Given the description of an element on the screen output the (x, y) to click on. 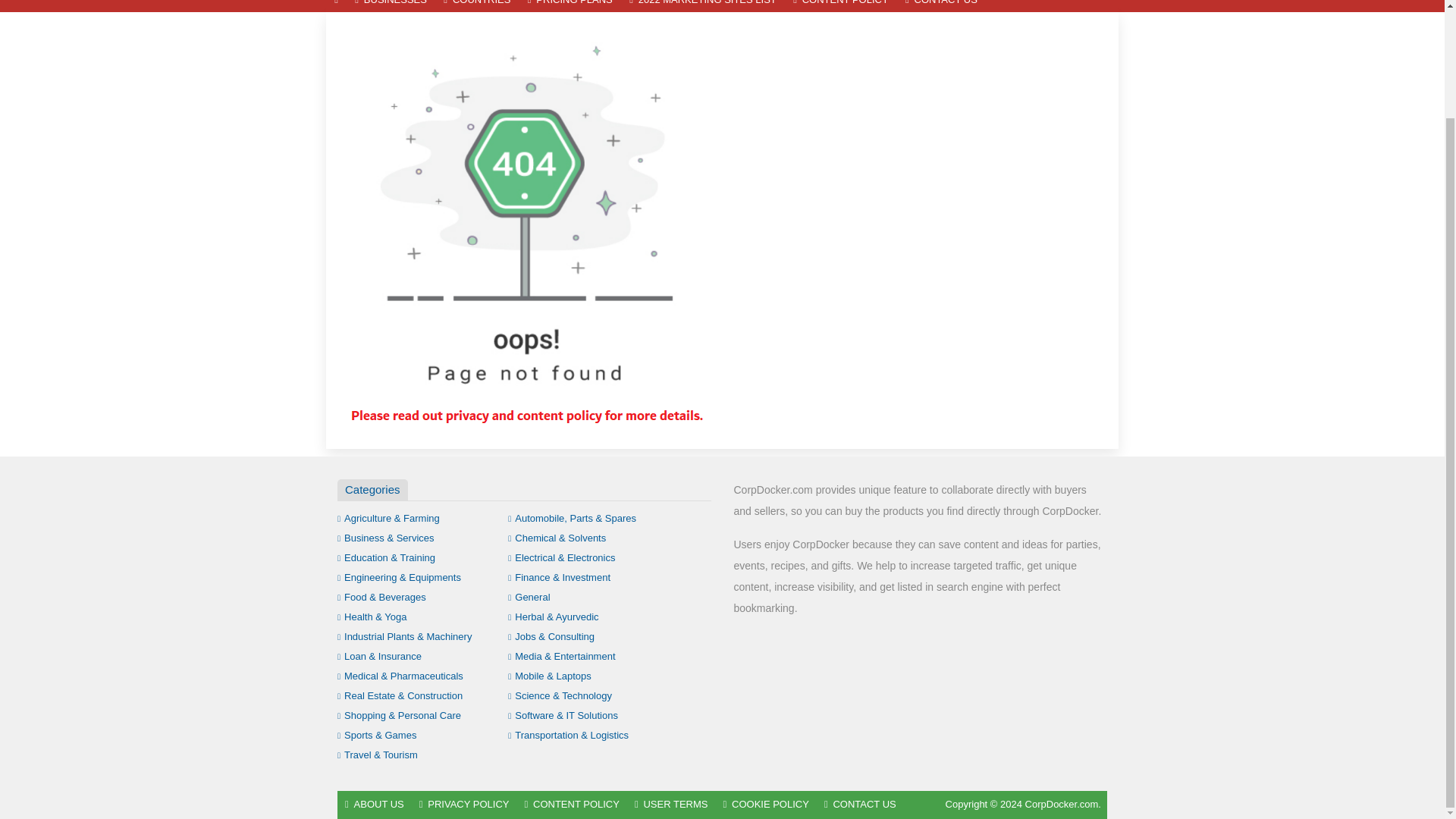
General (529, 596)
CONTACT US (940, 6)
CONTENT POLICY (840, 6)
COUNTRIES (476, 6)
BUSINESSES (390, 6)
PRICING PLANS (570, 6)
2022 MARKETING SITES LIST (702, 6)
HOME (336, 6)
